Given the description of an element on the screen output the (x, y) to click on. 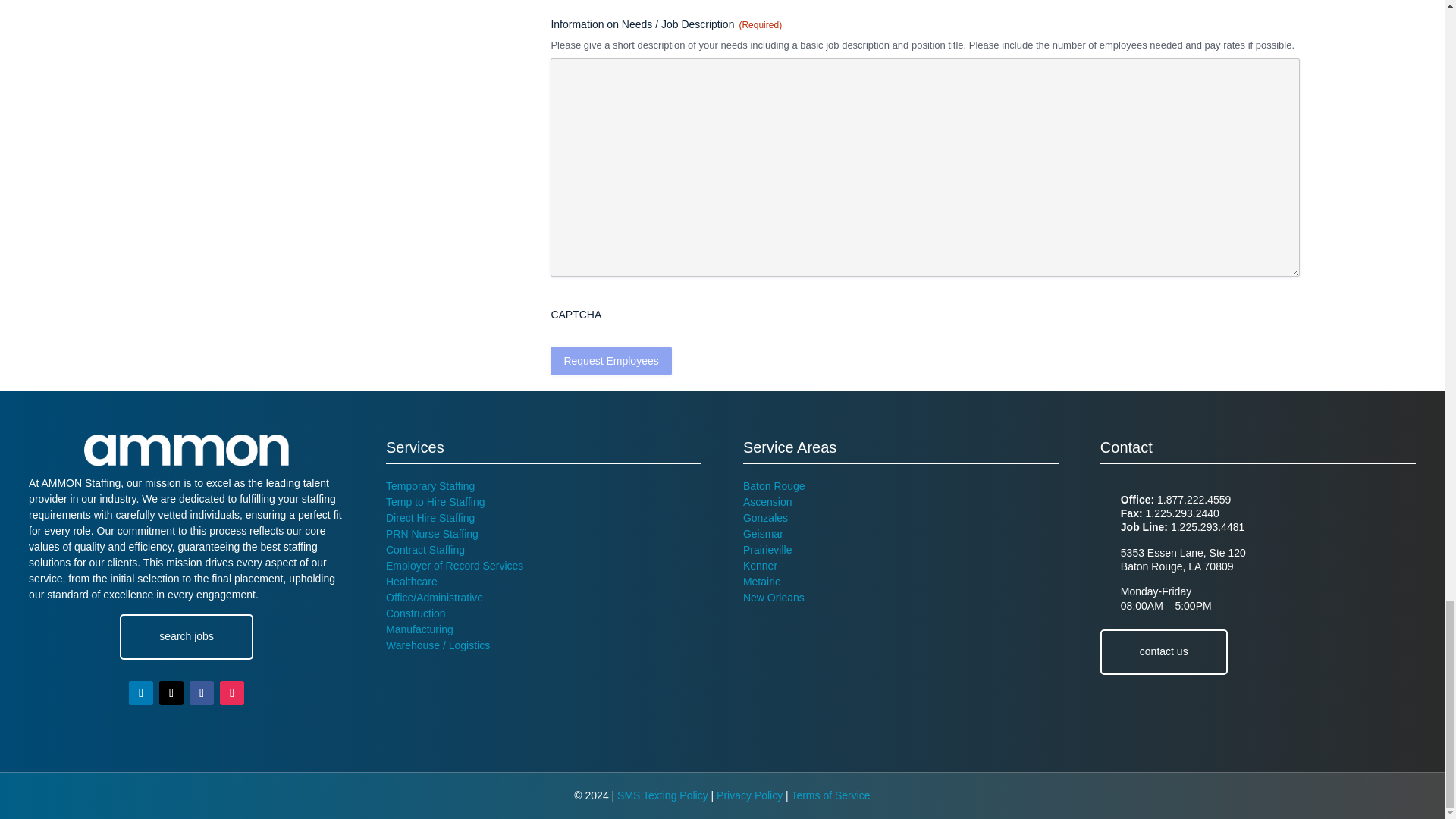
Contract Staffing (424, 549)
Metairie (761, 581)
New Orleans (773, 597)
Request Employees (610, 360)
Employer of Record Services (453, 565)
Healthcare (411, 581)
Manufacturing (418, 629)
PRN Nurse Staffing (432, 533)
Temporary Staffing (429, 485)
Prairieville (767, 549)
